Given the description of an element on the screen output the (x, y) to click on. 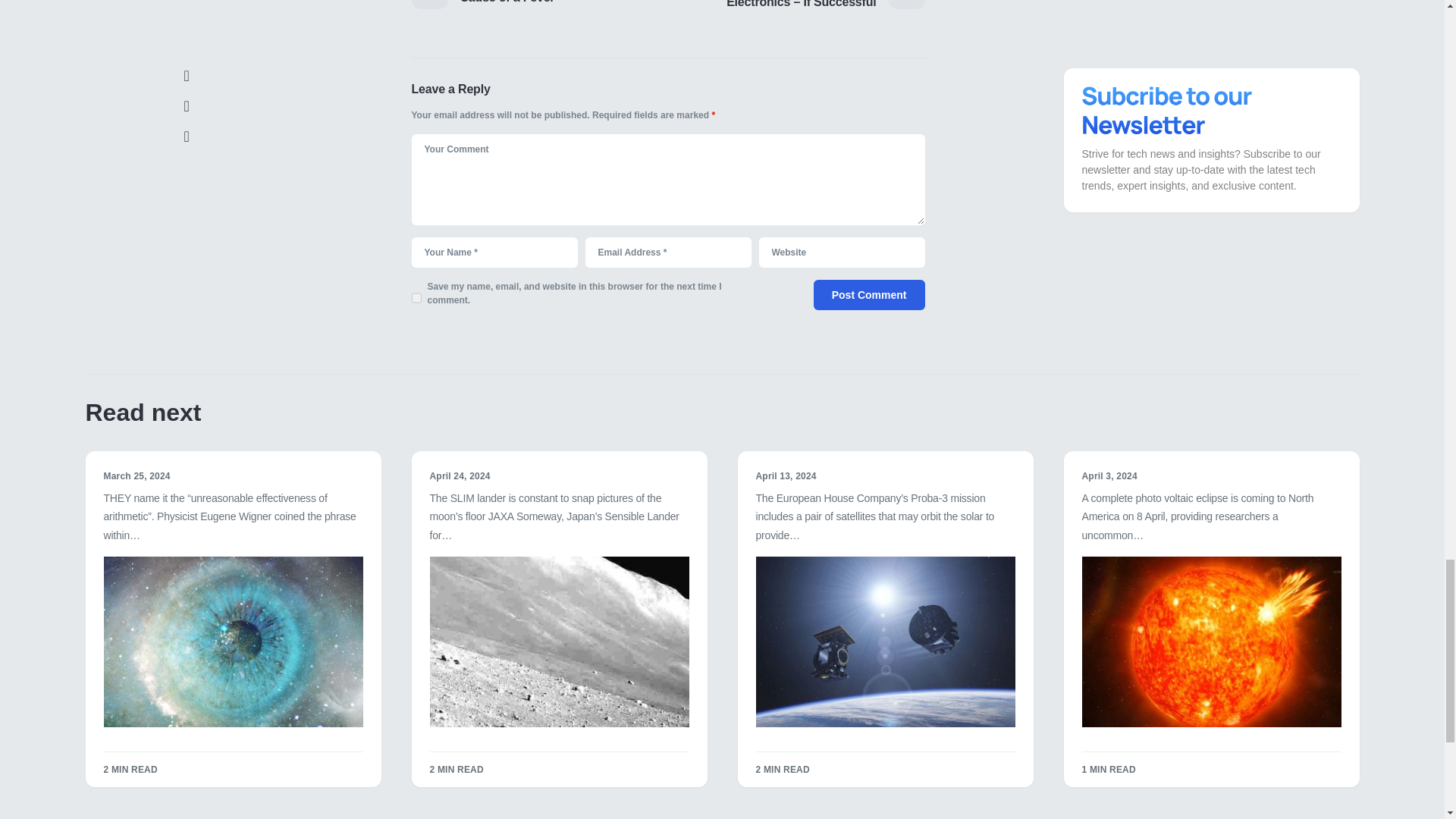
Post Comment (868, 295)
